Given the description of an element on the screen output the (x, y) to click on. 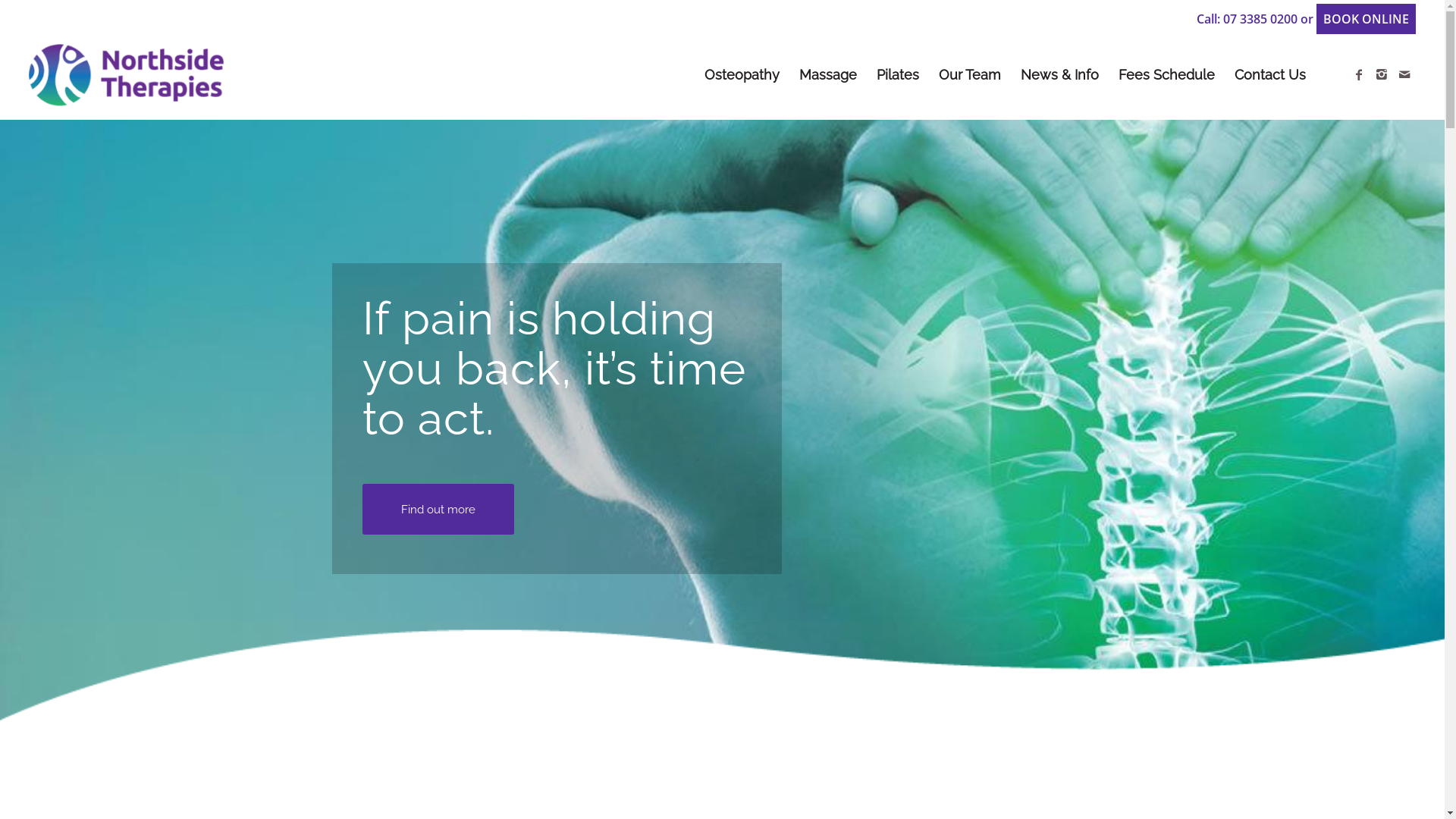
BOOK ONLINE Element type: text (1365, 18)
Facebook Element type: hover (1358, 73)
07 3385 0200 Element type: text (1260, 18)
Osteopathy Element type: text (741, 74)
Massage Element type: text (827, 74)
Contact Us Element type: text (1269, 74)
Mail Element type: hover (1404, 73)
Instagram Element type: hover (1381, 73)
Our Team Element type: text (969, 74)
Find out more Element type: text (438, 508)
Fees Schedule Element type: text (1166, 74)
Pilates Element type: text (897, 74)
News & Info Element type: text (1059, 74)
